Given the description of an element on the screen output the (x, y) to click on. 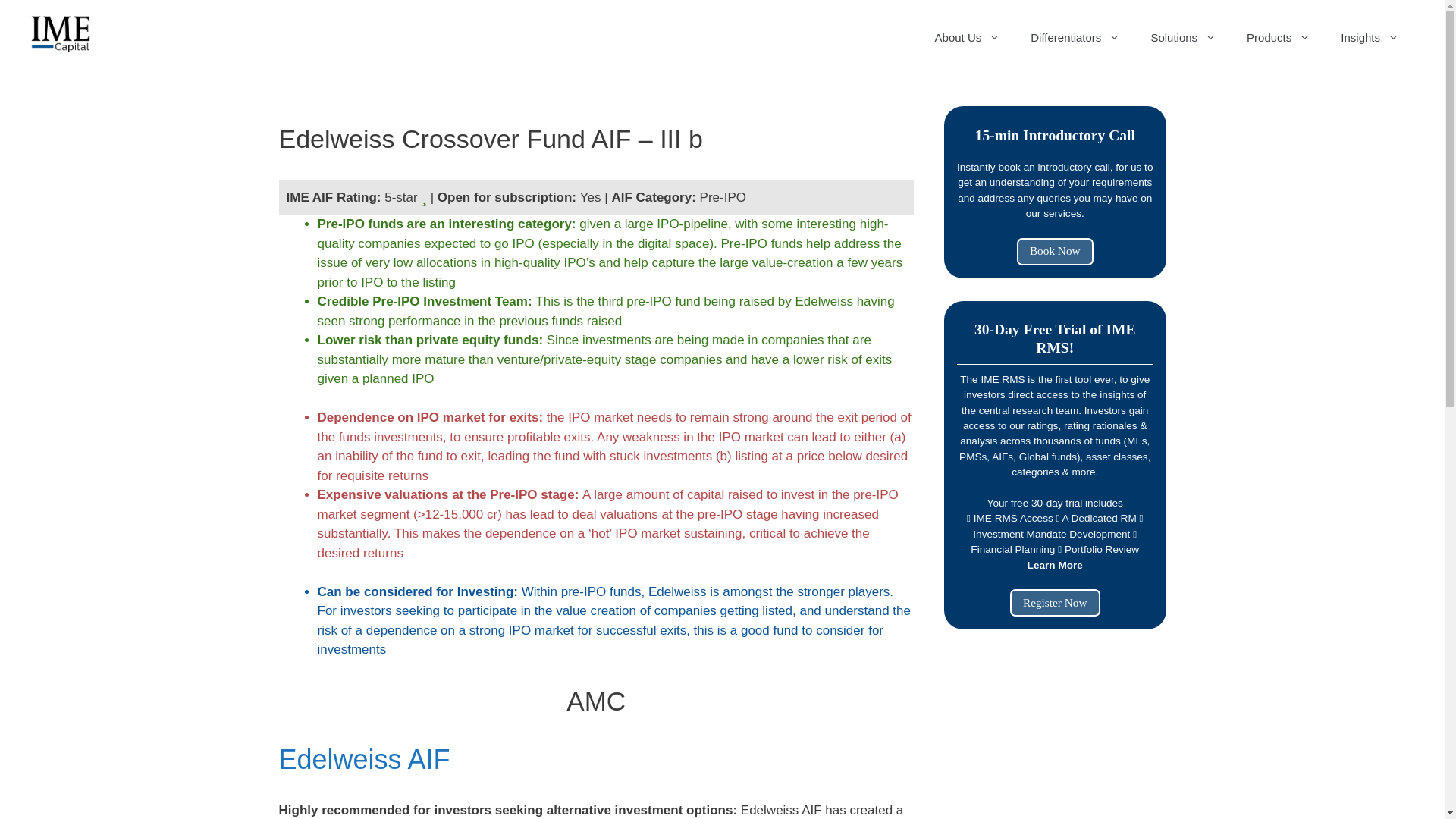
Register Now (1055, 602)
Solutions (1183, 37)
IME Capital (60, 32)
Edelweiss AIF (364, 758)
Products (1277, 37)
Insights (1368, 37)
IME Capital (60, 33)
Learn More (1055, 564)
Book Now (1054, 251)
Register Now (1055, 602)
About Us (968, 37)
Book Now (1054, 250)
Differentiators (1074, 37)
